Given the description of an element on the screen output the (x, y) to click on. 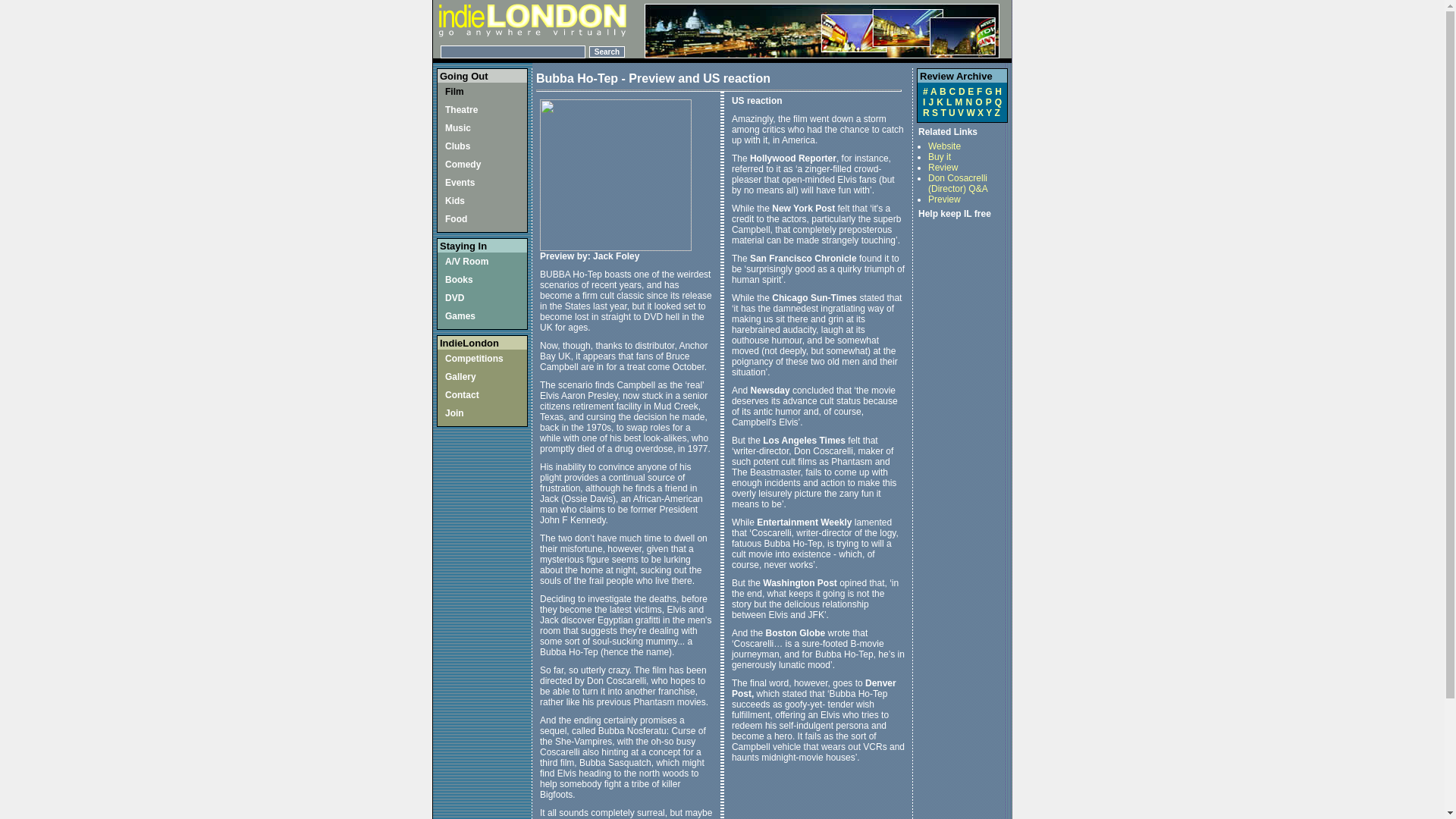
Clubs (457, 145)
Books (459, 279)
Film (454, 91)
Contact (462, 394)
DVD (454, 297)
Gallery (460, 376)
Food (456, 218)
Kids (454, 200)
Comedy (462, 163)
Games (460, 316)
